Given the description of an element on the screen output the (x, y) to click on. 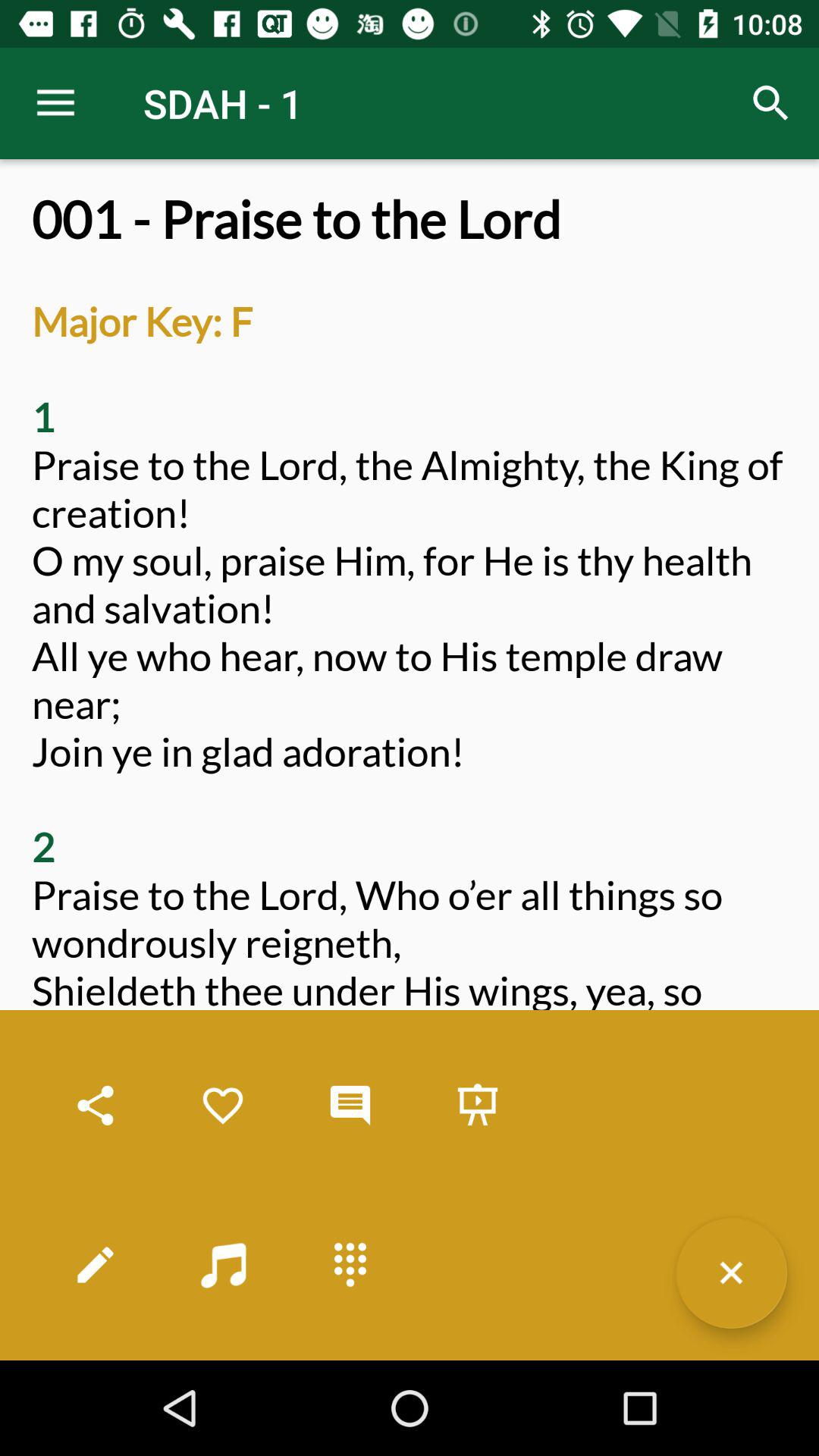
save page to your favorites (222, 1105)
